Given the description of an element on the screen output the (x, y) to click on. 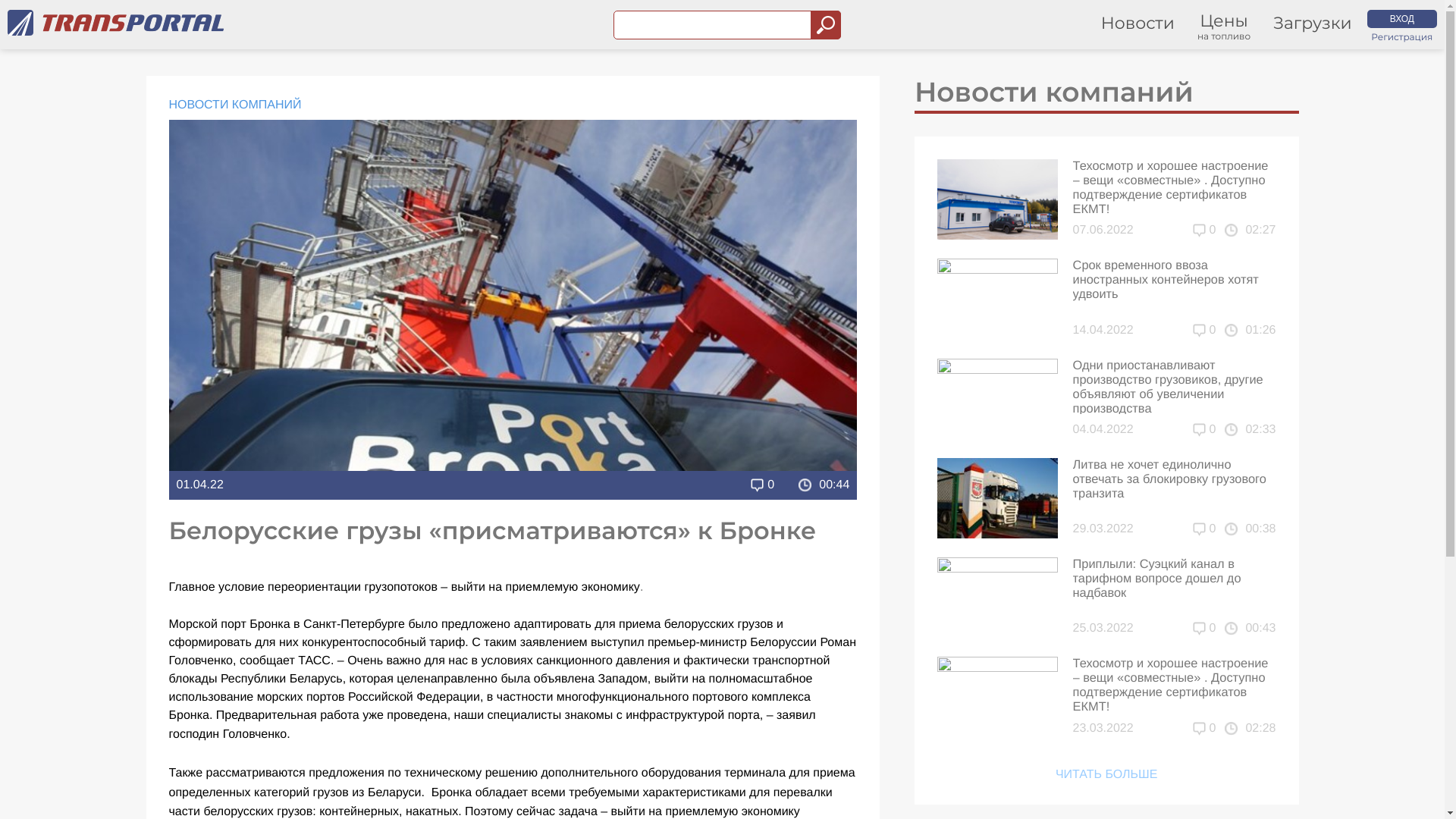
0 Element type: text (1203, 628)
0 Element type: text (1203, 728)
0 Element type: text (1203, 330)
0 Element type: text (1203, 429)
0 Element type: text (1203, 230)
0 Element type: text (1203, 529)
